Given the description of an element on the screen output the (x, y) to click on. 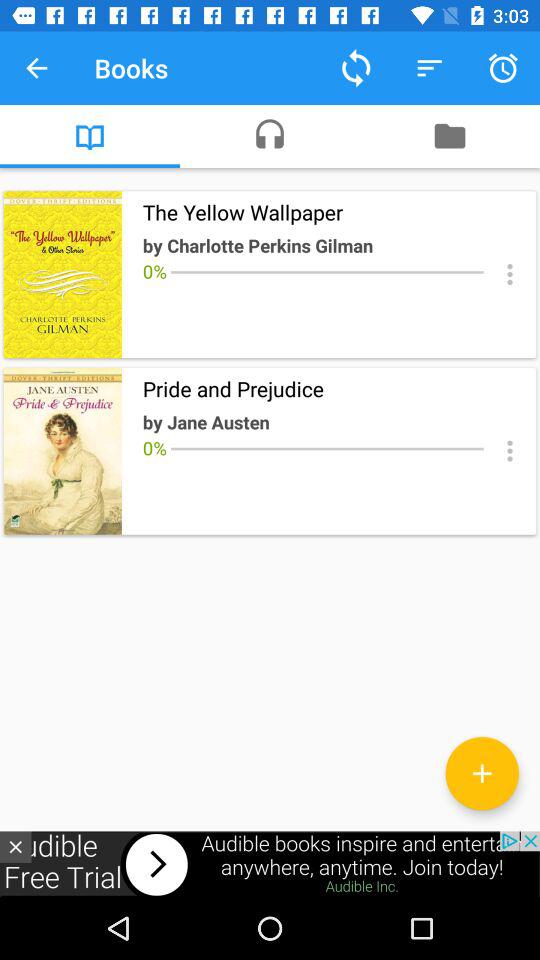
clickable advertisement (270, 864)
